Given the description of an element on the screen output the (x, y) to click on. 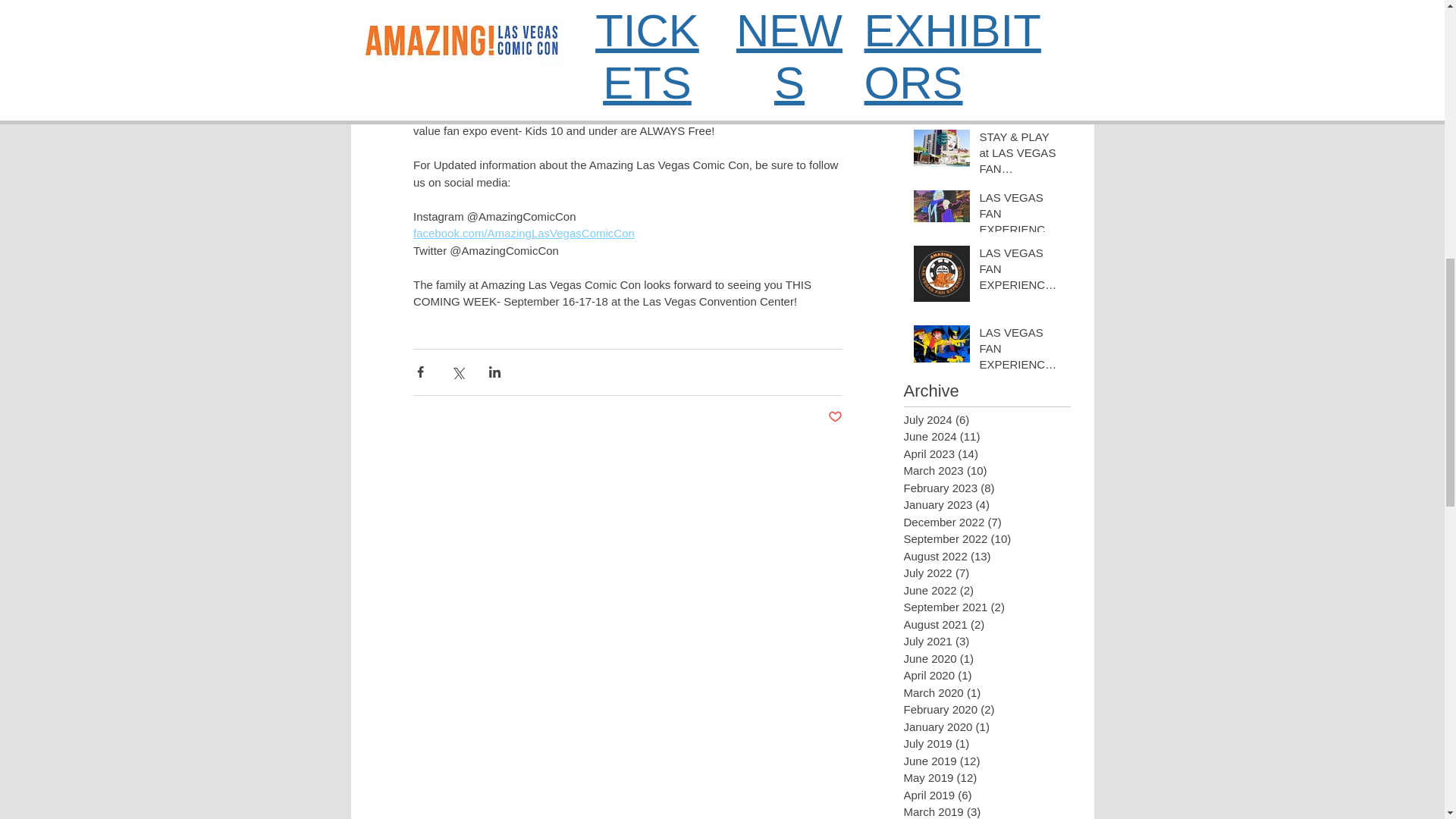
Post not marked as liked (835, 417)
ON SALE NOW (689, 79)
